Given the description of an element on the screen output the (x, y) to click on. 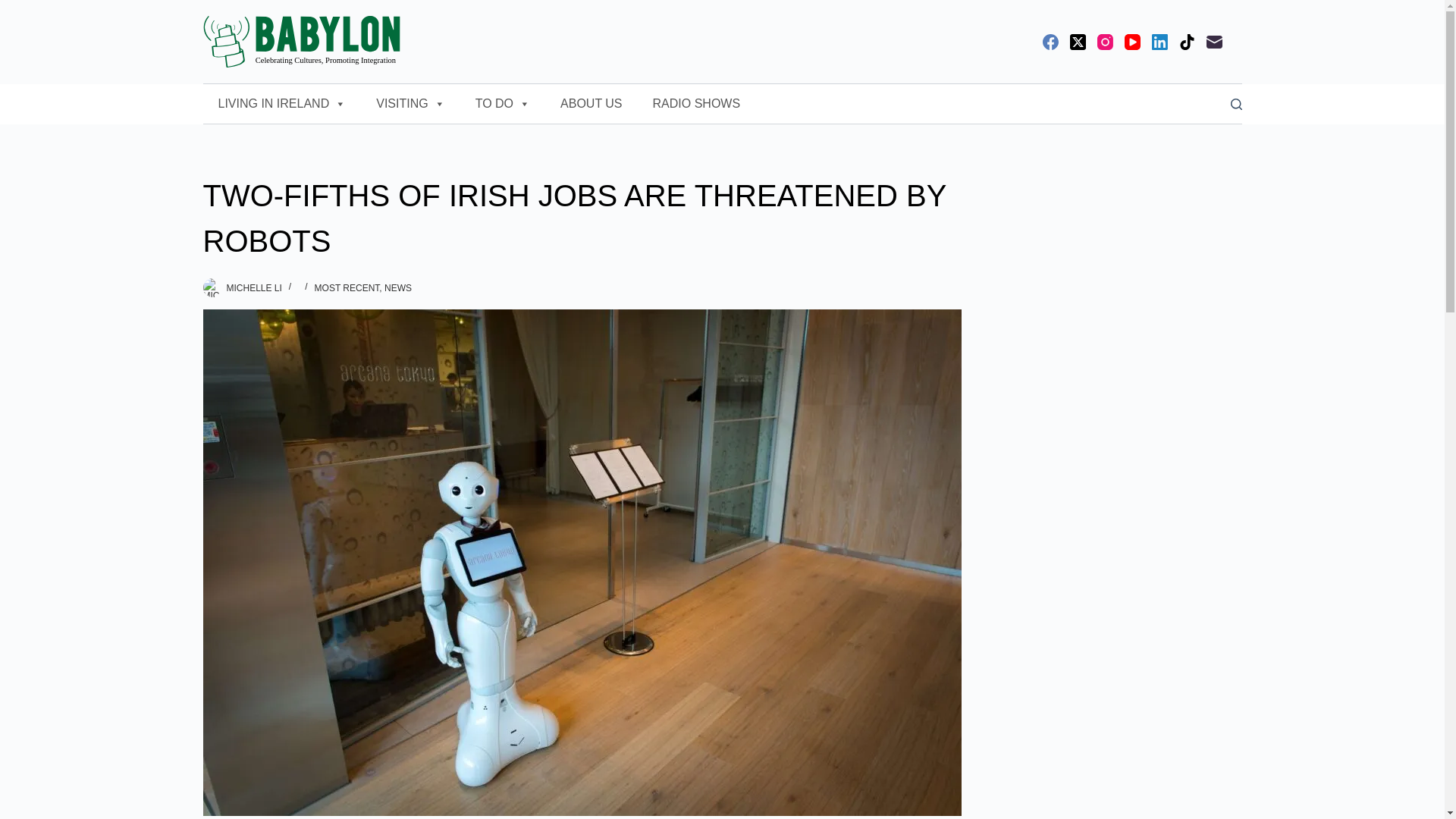
Posts by Michelle Li (253, 287)
Two-fifths of Irish Jobs are threatened by Robots (581, 217)
Skip to content (15, 7)
